Given the description of an element on the screen output the (x, y) to click on. 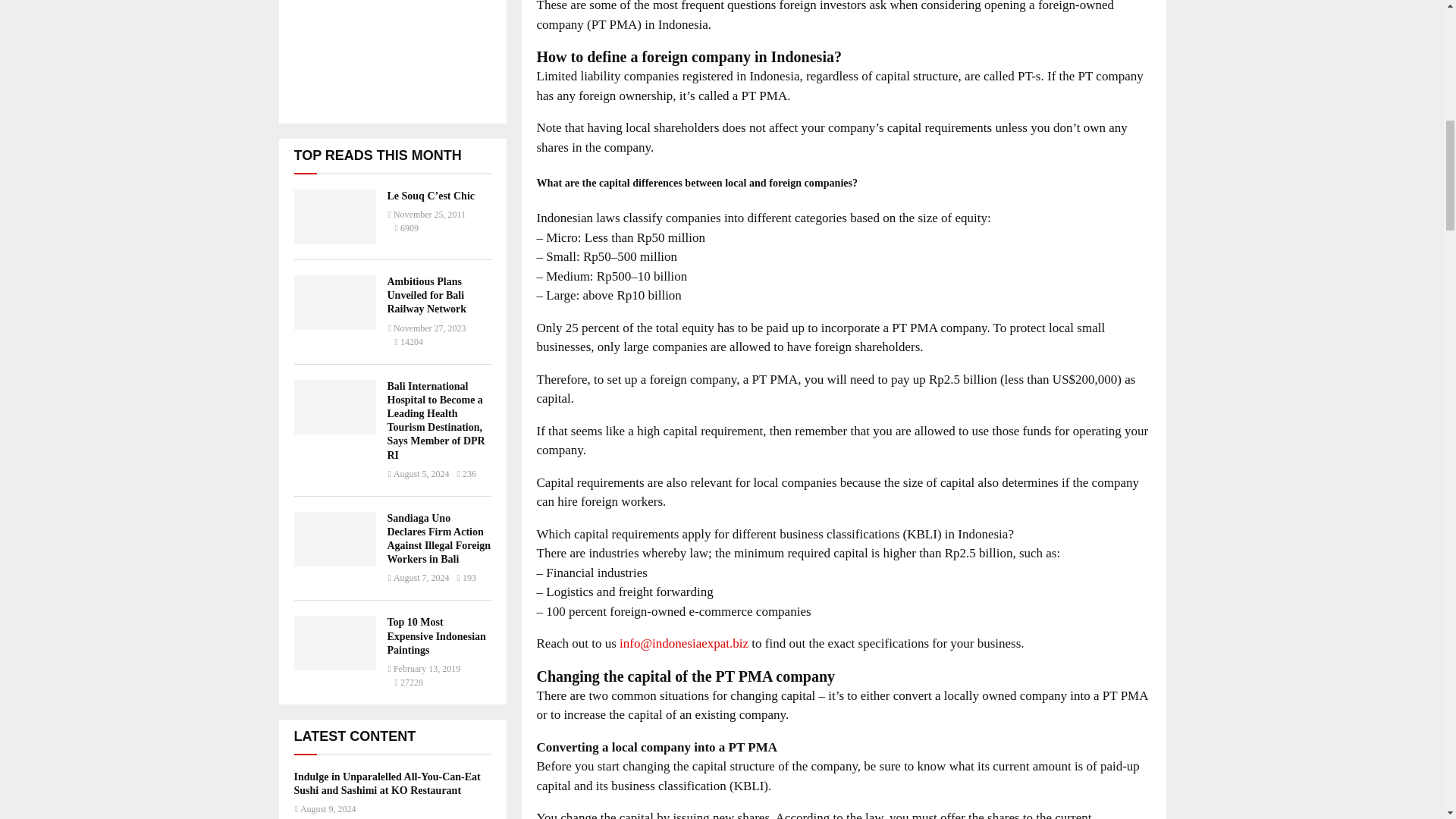
Ambitious Plans Unveiled for Bali Railway Network (334, 302)
 Ambitious Plans Unveiled for Bali Railway Network  (426, 295)
